Given the description of an element on the screen output the (x, y) to click on. 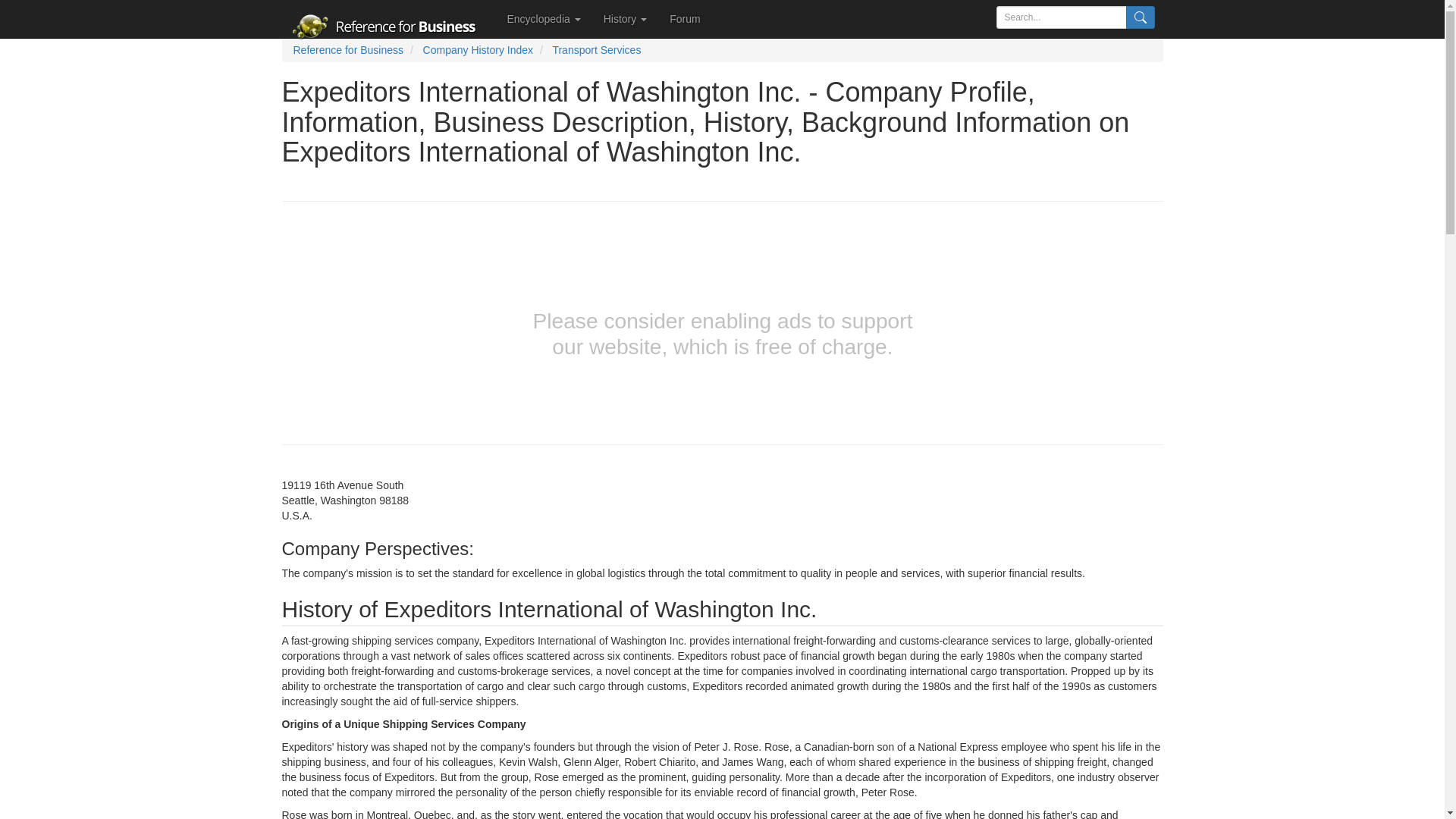
Transport Services (595, 50)
History (625, 18)
Reference for Business (347, 50)
Advertisement (138, 306)
Forum (684, 18)
Company History Index (478, 50)
Encyclopedia (544, 18)
